Given the description of an element on the screen output the (x, y) to click on. 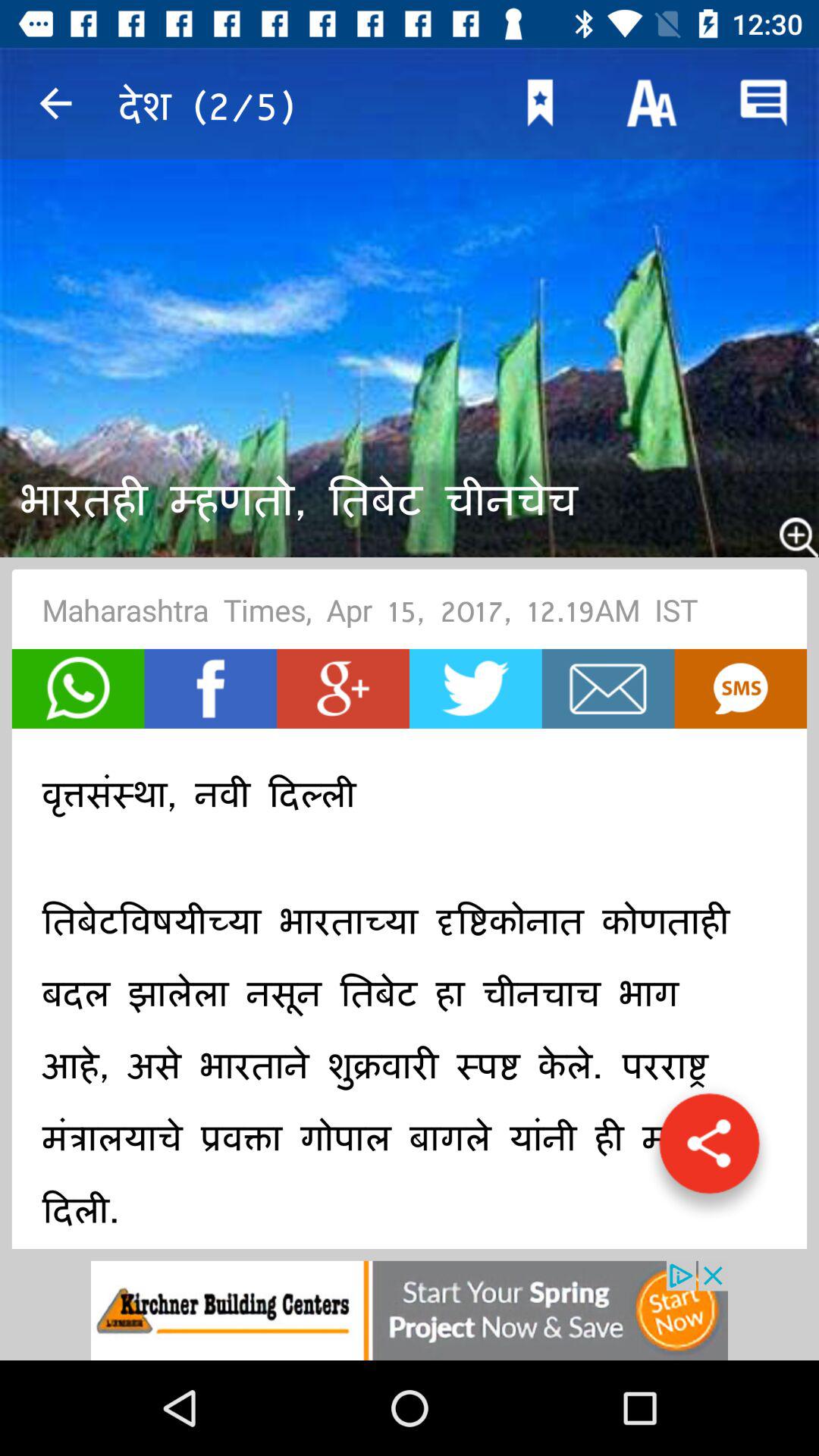
sms box (740, 688)
